Given the description of an element on the screen output the (x, y) to click on. 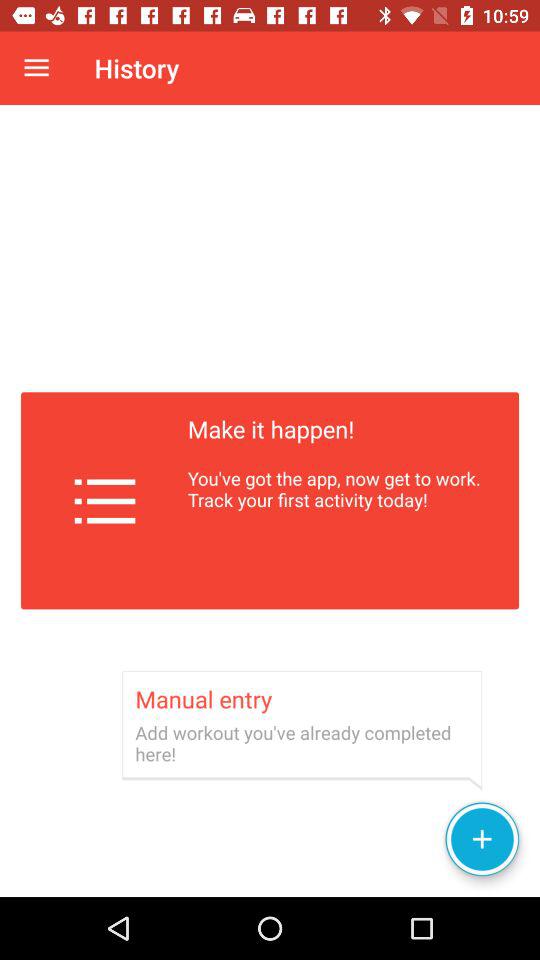
seeing in the paragraph (270, 501)
